Given the description of an element on the screen output the (x, y) to click on. 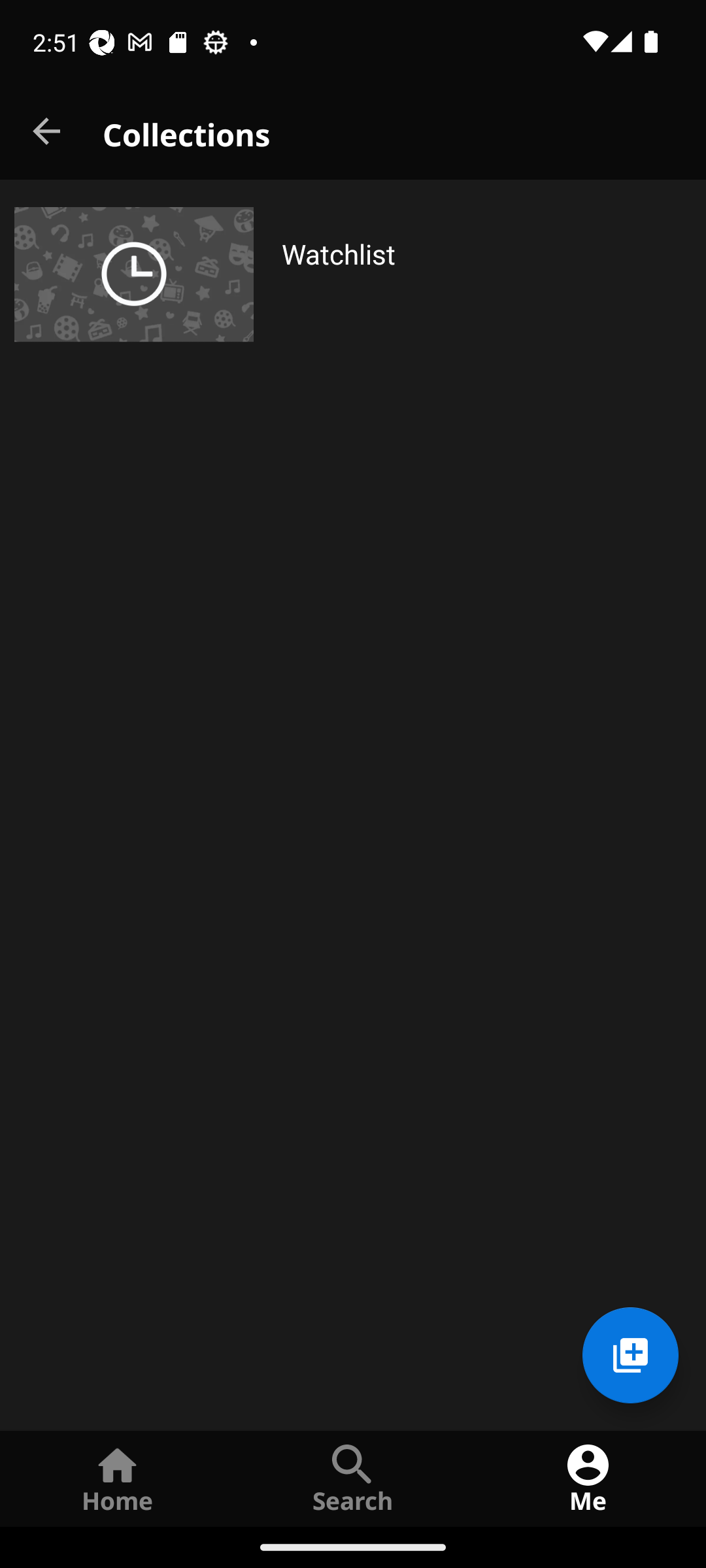
Navigate up (48, 131)
profile_page_user_collection_0 Watchlist (352, 273)
Home (117, 1478)
Search (352, 1478)
